Given the description of an element on the screen output the (x, y) to click on. 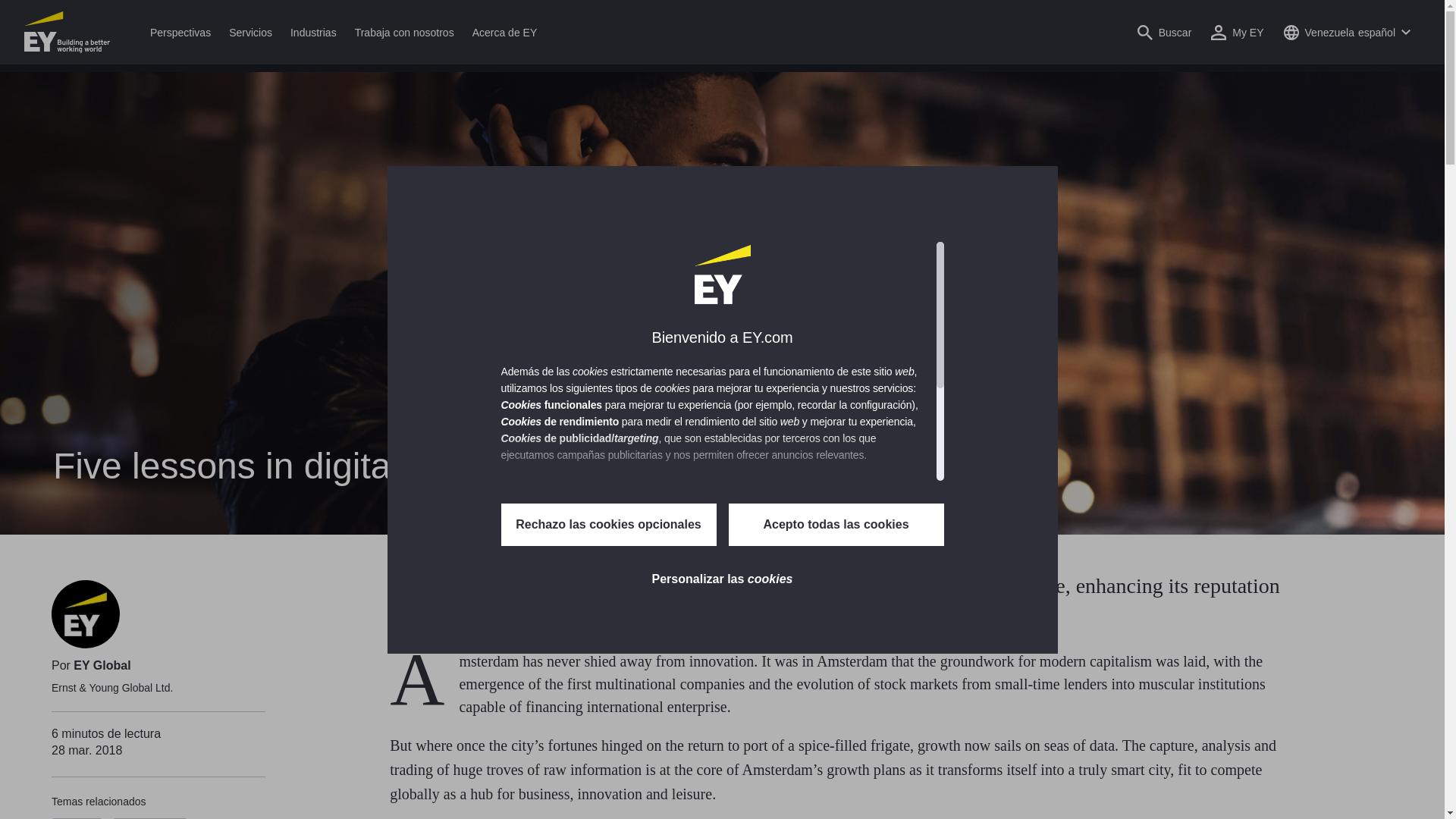
Open country language switcher (1346, 32)
EY Global (84, 613)
Perspectivas (180, 32)
EY Homepage (67, 32)
Open search (1164, 32)
My EY (1236, 32)
